Given the description of an element on the screen output the (x, y) to click on. 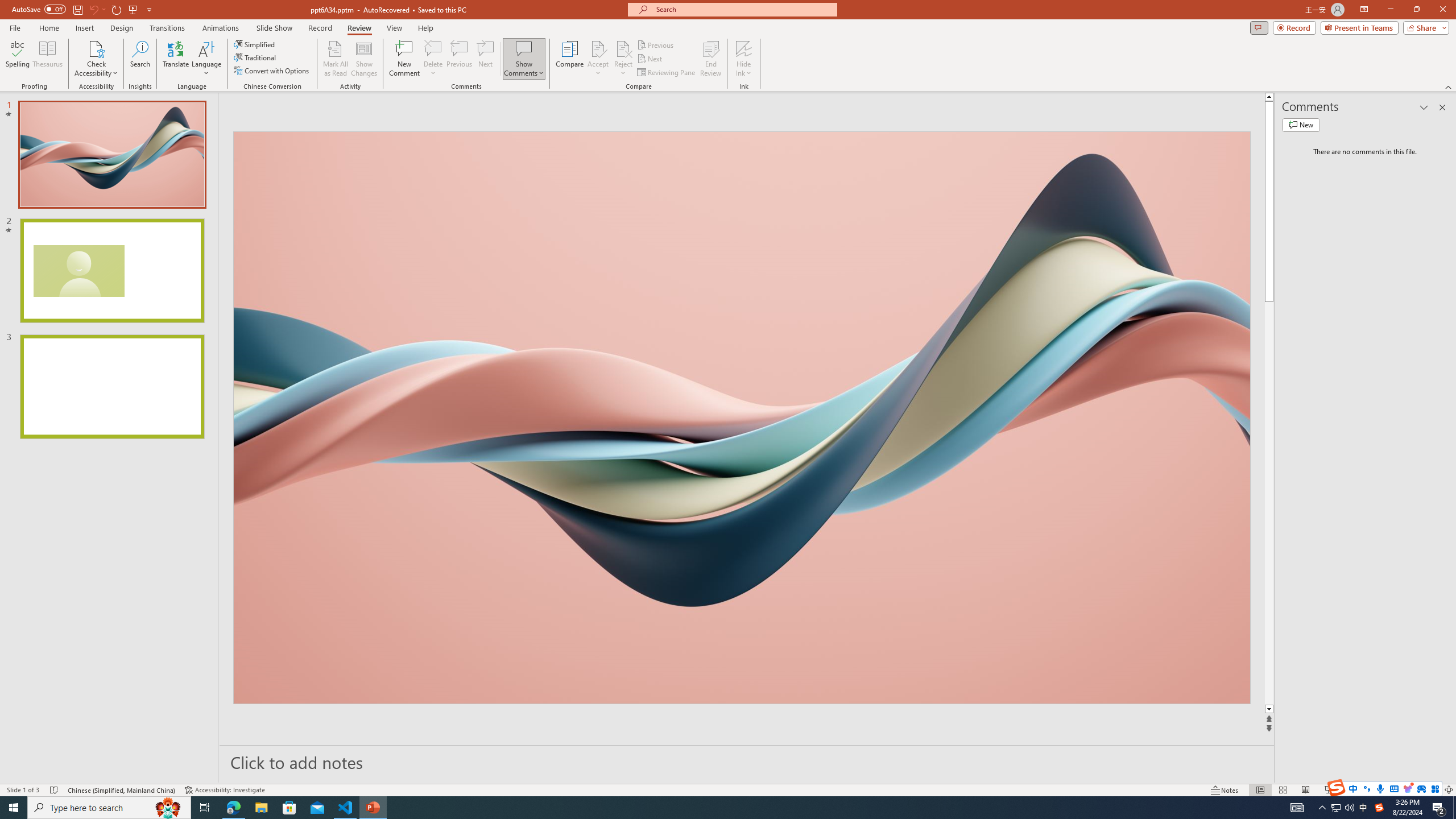
Show Changes (363, 58)
Delete (432, 58)
Accept (598, 58)
Simplified (254, 44)
Zoom 140% (1430, 790)
